Given the description of an element on the screen output the (x, y) to click on. 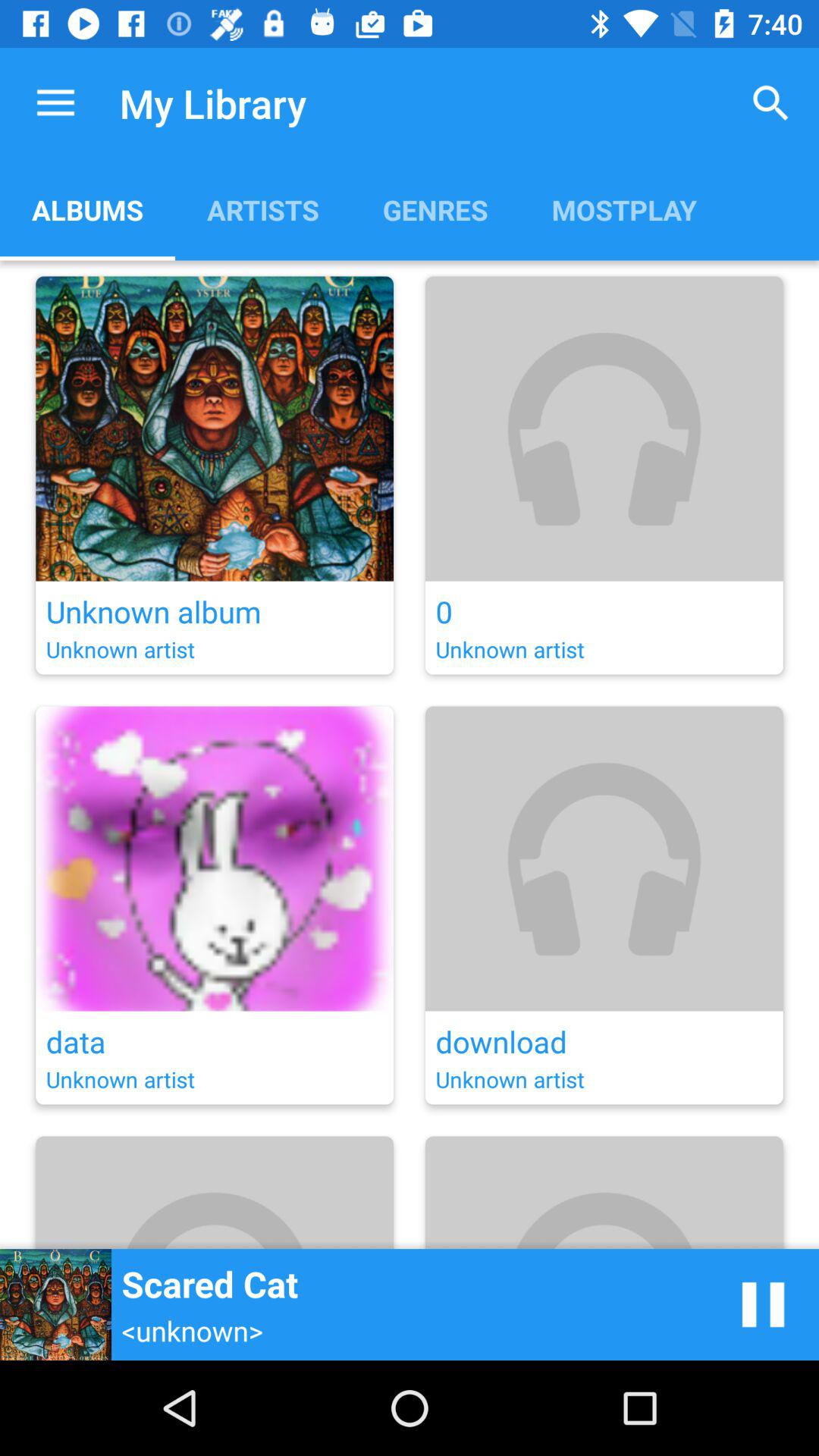
pause the music currently playing (763, 1304)
